Given the description of an element on the screen output the (x, y) to click on. 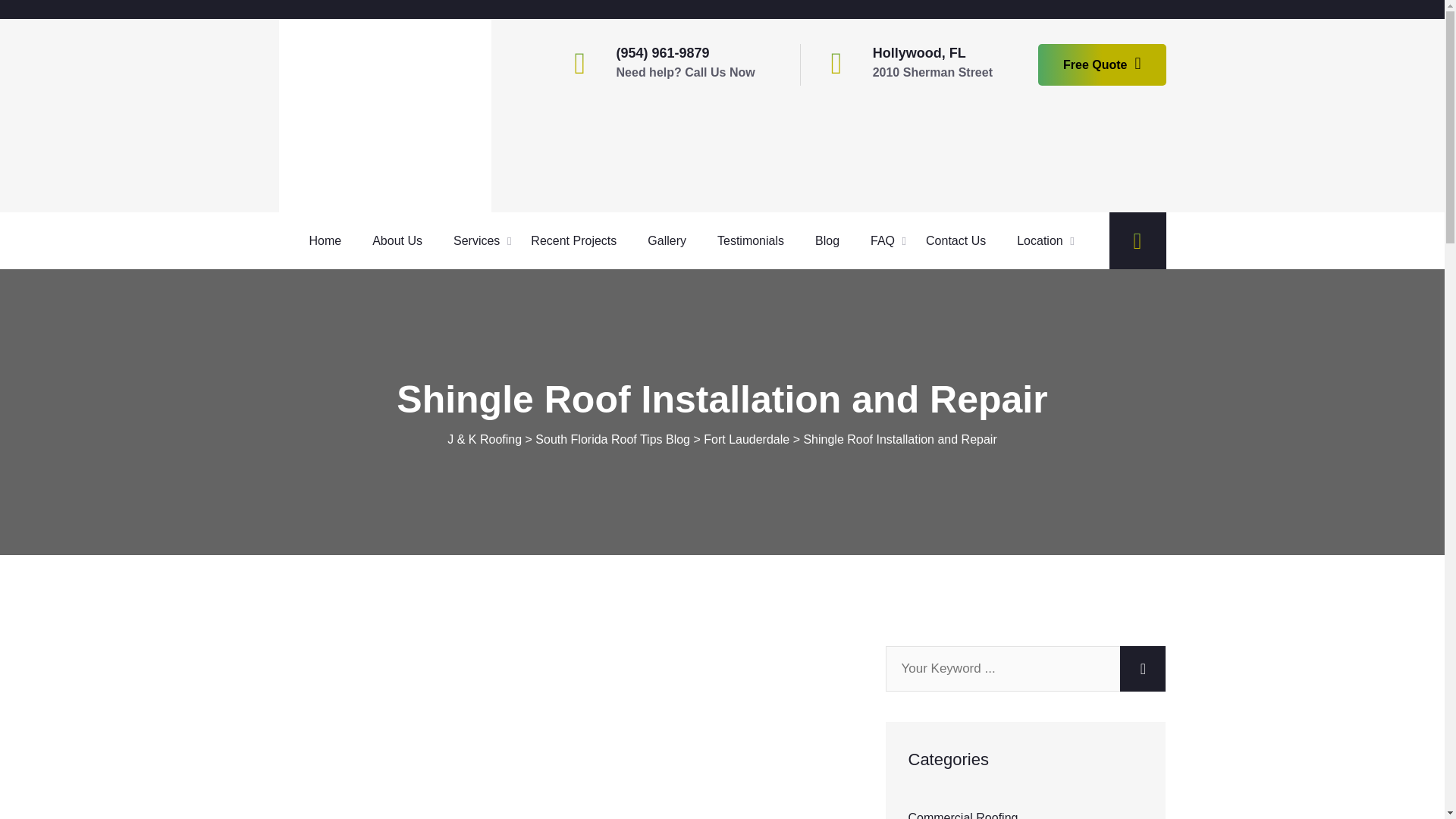
South Florida Roof Tips Blog (612, 439)
Home (330, 241)
Blog (832, 241)
Recent Projects (579, 241)
Services (481, 241)
Gallery (672, 241)
About Us (402, 241)
Services (481, 241)
Location (1045, 241)
Testimonials (755, 241)
